Given the description of an element on the screen output the (x, y) to click on. 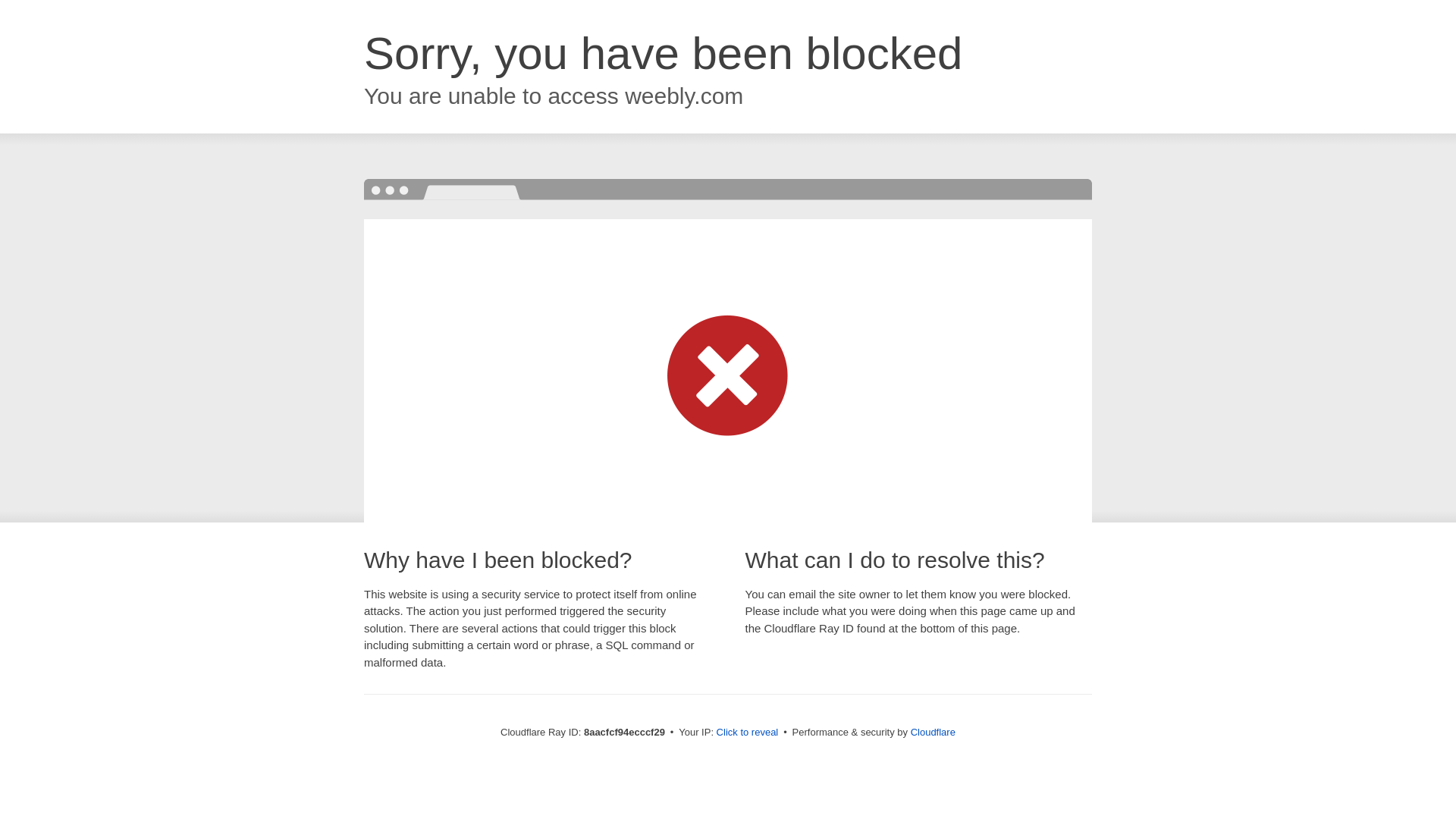
Click to reveal (747, 732)
Cloudflare (933, 731)
